Given the description of an element on the screen output the (x, y) to click on. 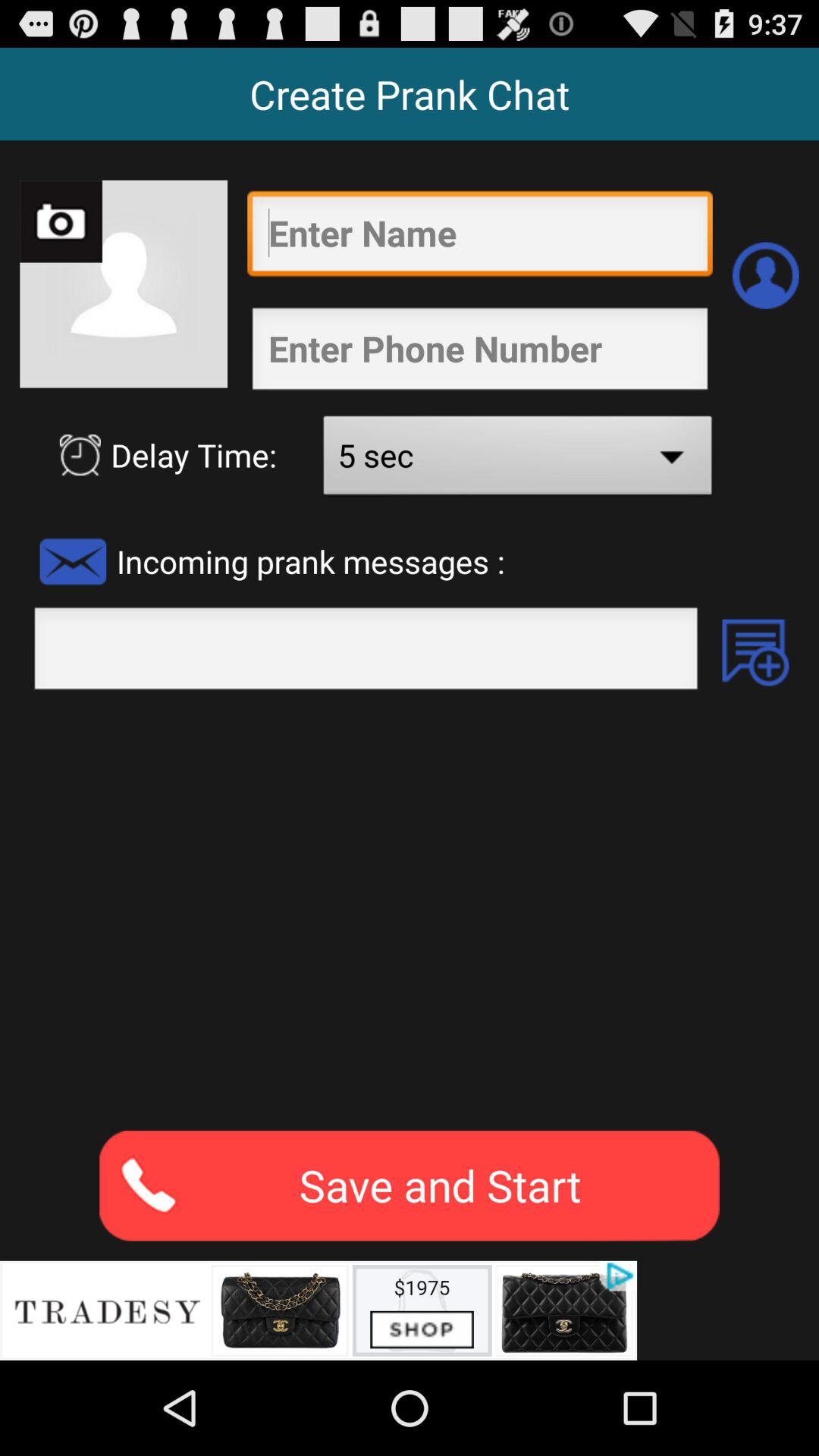
enter your name (479, 237)
